Given the description of an element on the screen output the (x, y) to click on. 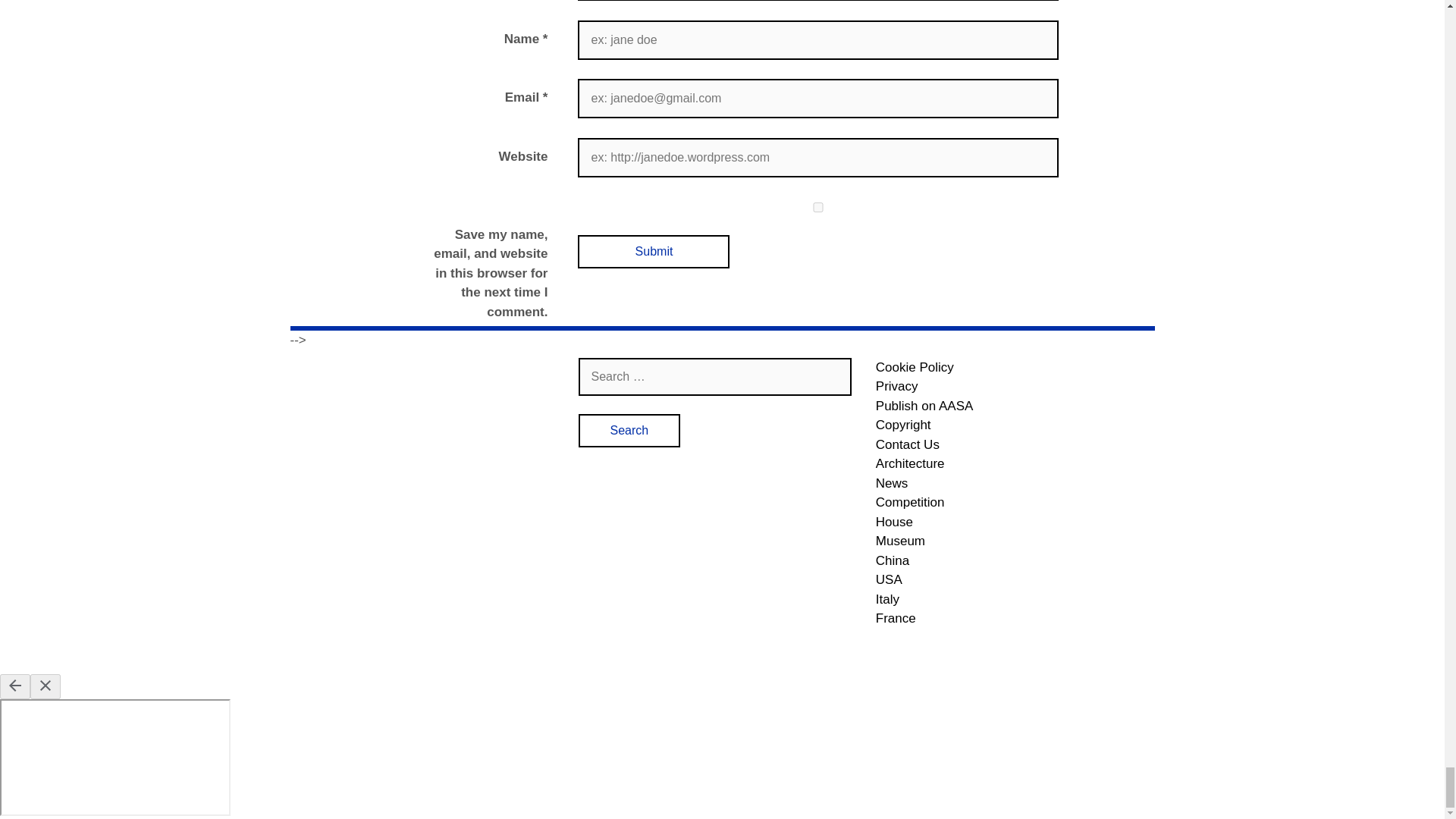
Contact Us (1013, 444)
Cookie Policy (1013, 367)
Architecture (1013, 464)
Privacy (1013, 386)
Search (629, 430)
Submit (653, 251)
yes (818, 207)
Publish on AASA (1013, 406)
Submit (653, 251)
Search (629, 430)
